Given the description of an element on the screen output the (x, y) to click on. 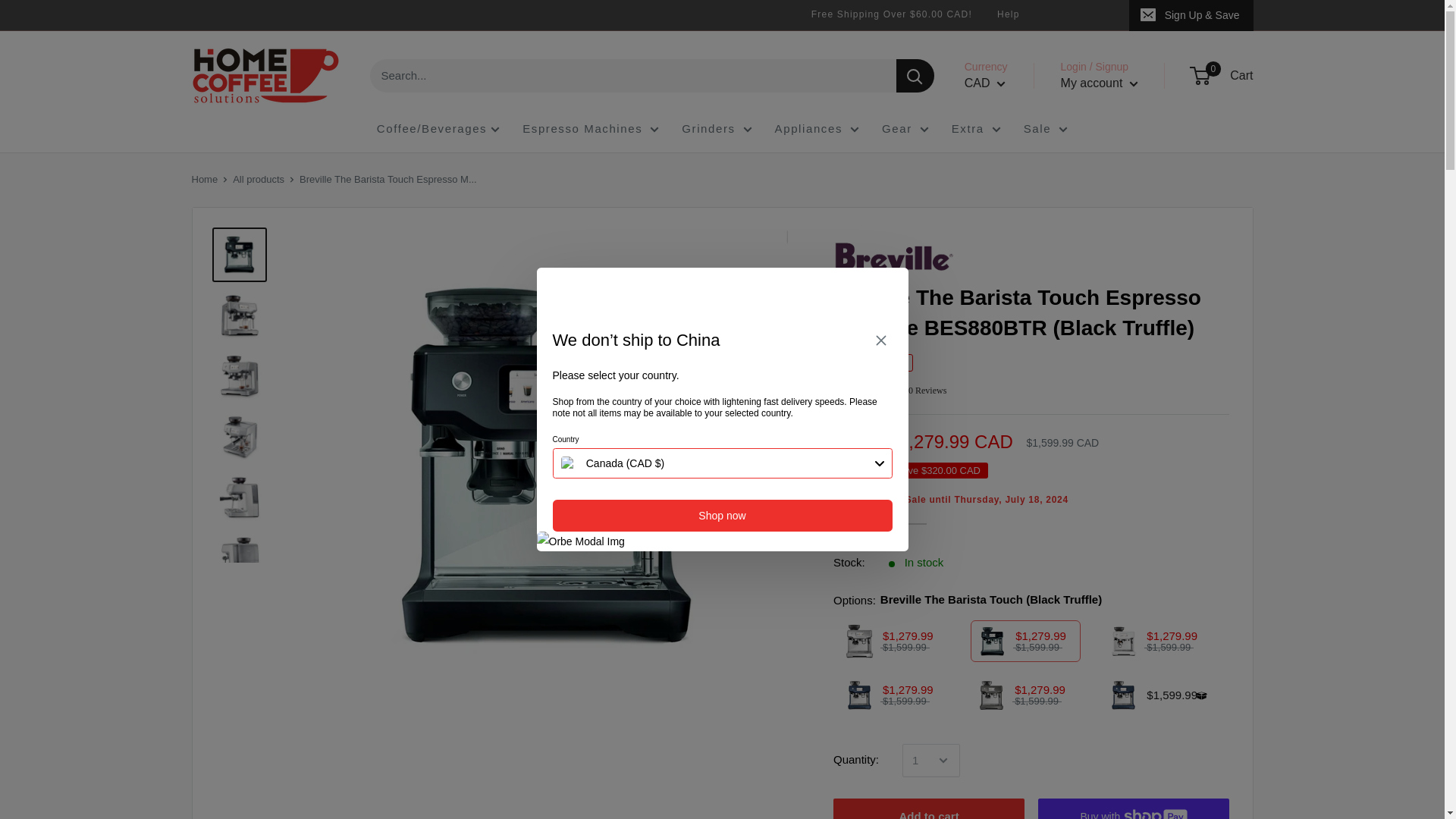
Shop now (721, 515)
0 Reviews (889, 389)
  Help   (1008, 14)
